Given the description of an element on the screen output the (x, y) to click on. 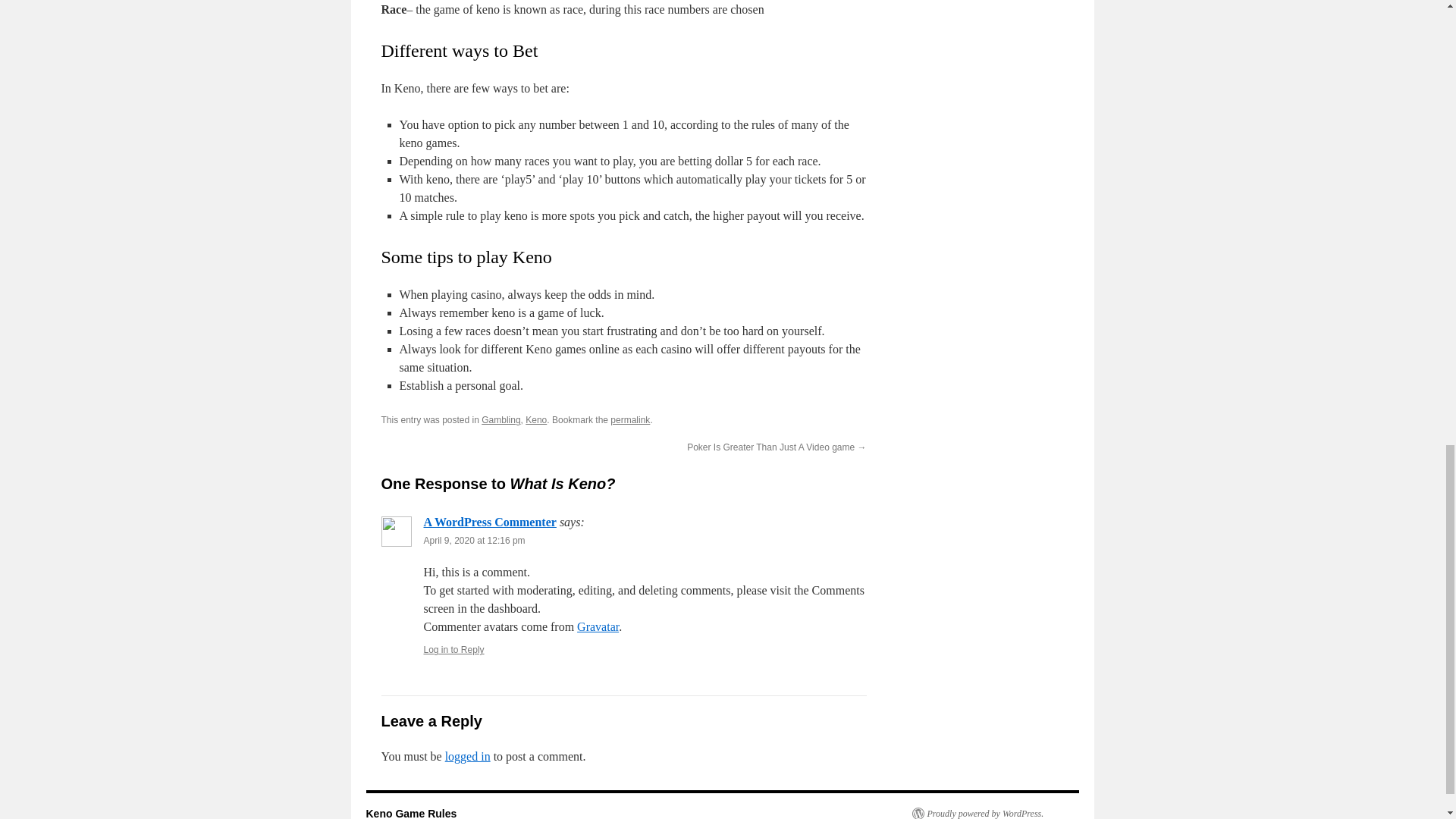
Keno (536, 419)
Gambling (500, 419)
Permalink to What Is Keno? (629, 419)
Log in to Reply (453, 649)
A WordPress Commenter (489, 521)
logged in (467, 756)
April 9, 2020 at 12:16 pm (473, 540)
Gravatar (597, 626)
permalink (629, 419)
